Given the description of an element on the screen output the (x, y) to click on. 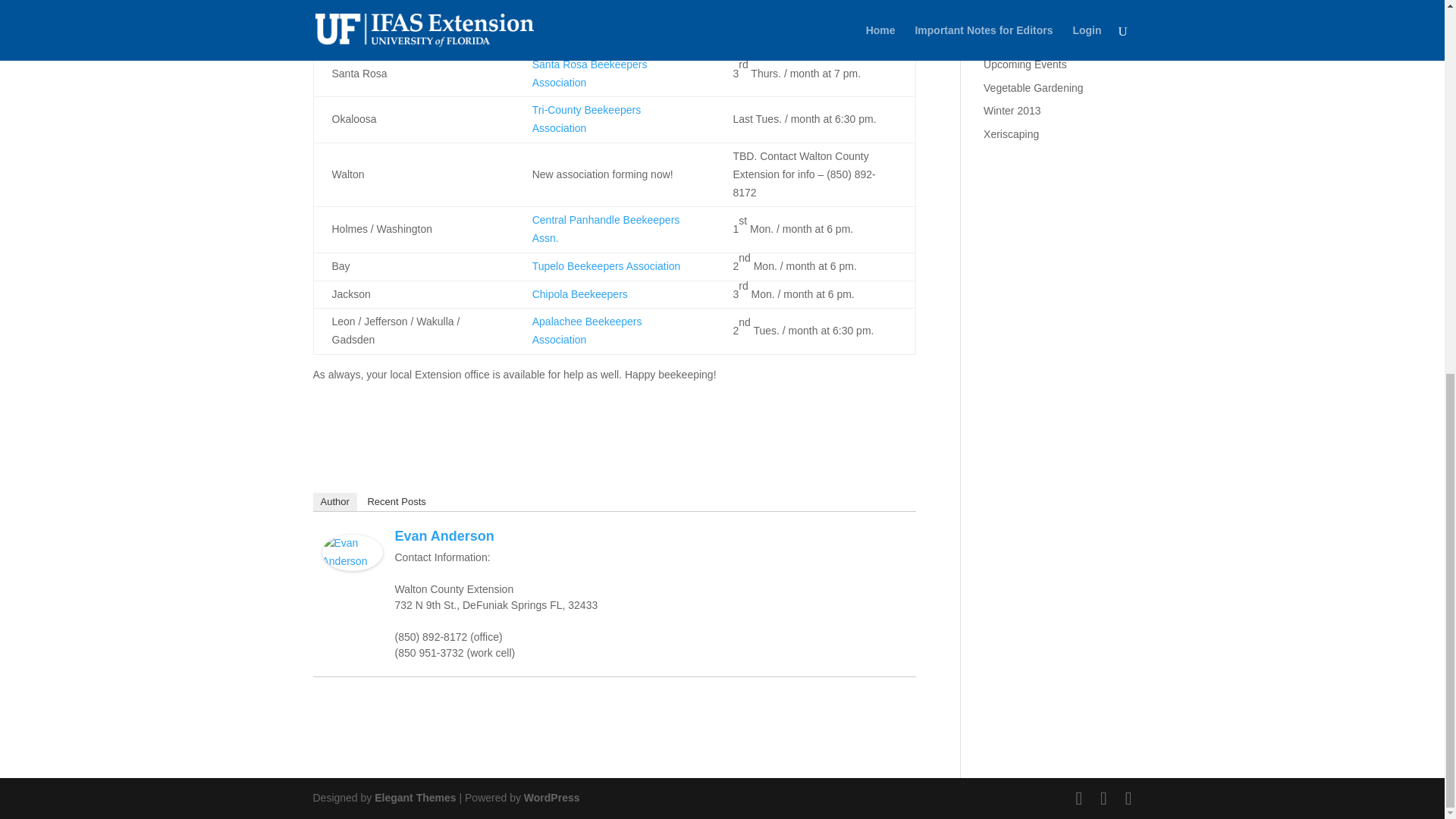
Evan Anderson (351, 561)
Author (334, 502)
Evan Anderson (443, 535)
Recent Posts (395, 502)
Escarosa Beekeepers Association (612, 8)
Central Panhandle Beekeepers Assn. (605, 228)
Tri-County Beekeepers Association (586, 119)
North Escambia Bee Association (608, 36)
Apalachee Beekeepers Association (587, 330)
Chipola Beekeepers (579, 294)
